Given the description of an element on the screen output the (x, y) to click on. 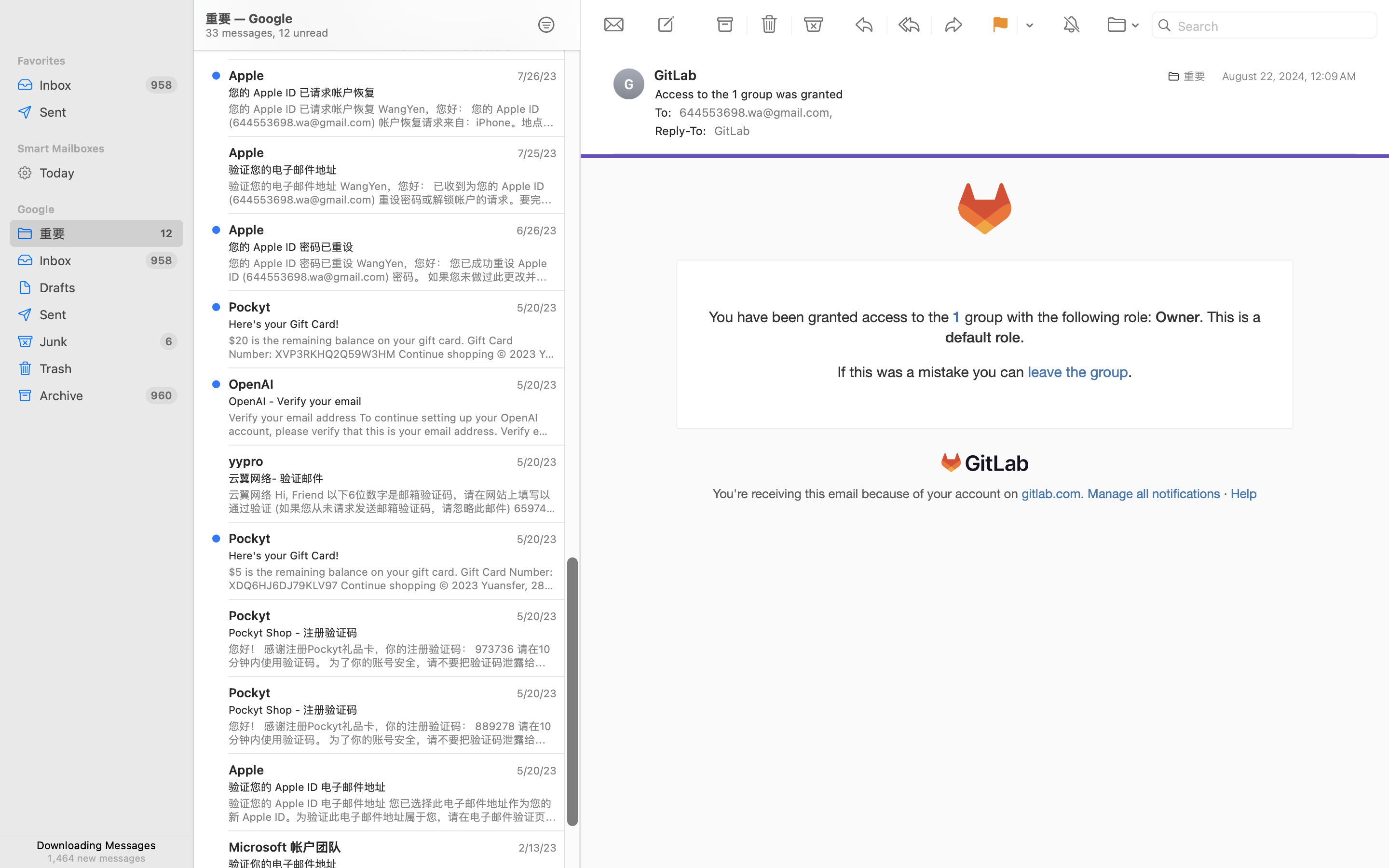
Inbox Element type: AXStaticText (88, 84)
云翼网络 Hi, Friend 以下6位数字是邮箱验证码，请在网站上填写以通过验证 (如果您从未请求发送邮箱验证码，请忽略此邮件) 659746 2020 © 云翼网络. All Rights Reserved. 访问官网 | 用户中心 Element type: AXStaticText (392, 501)
default role Element type: AXStaticText (982, 336)
Ien，您有1条新的Bumble通知 Element type: AXStaticText (388, 15)
Microsoft 帐户团队 Element type: AXStaticText (284, 846)
